Given the description of an element on the screen output the (x, y) to click on. 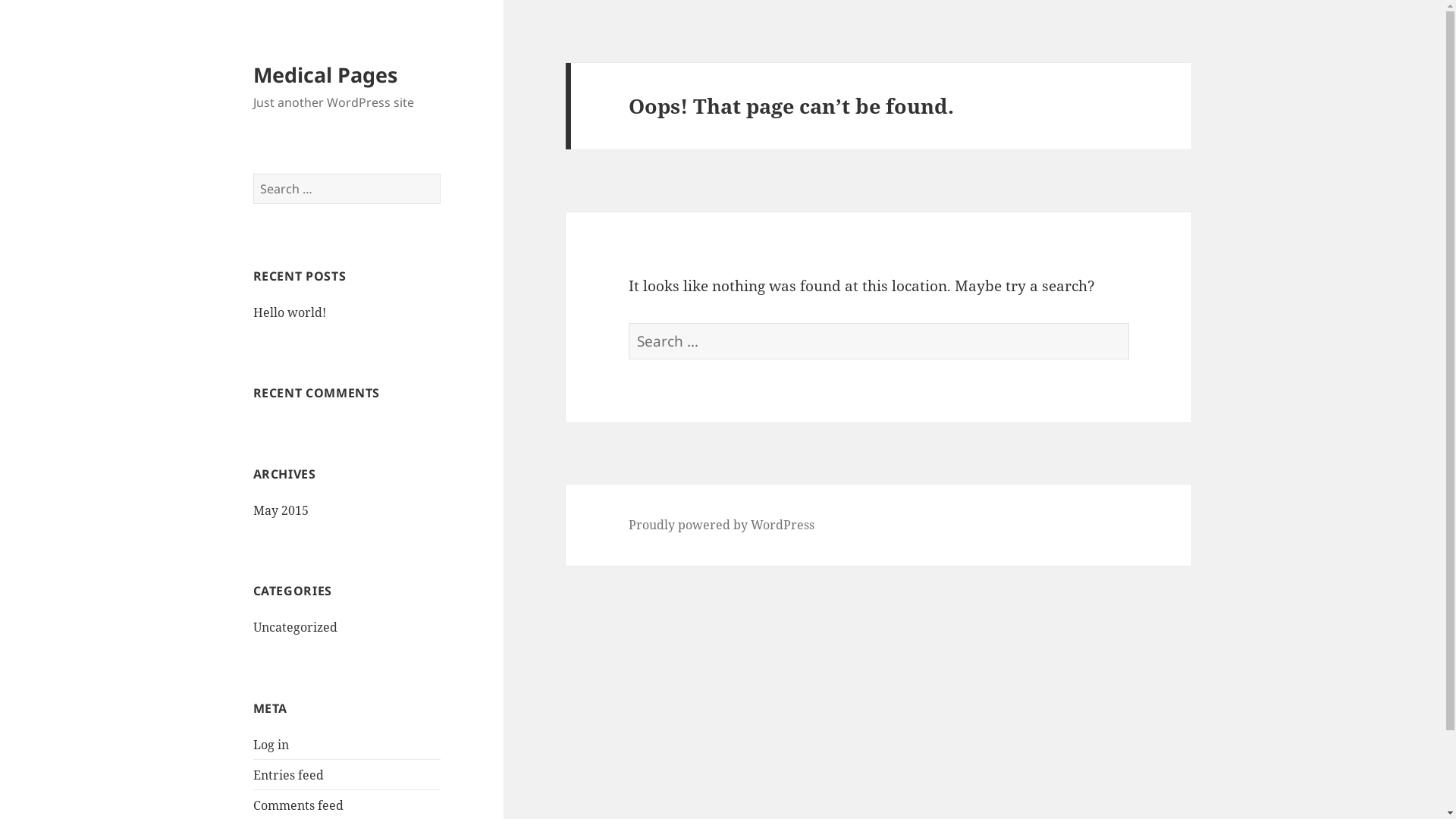
Medical Pages Element type: text (325, 74)
Entries feed Element type: text (288, 774)
Search Element type: text (1128, 322)
Uncategorized Element type: text (295, 626)
Search Element type: text (439, 172)
Log in Element type: text (270, 744)
Comments feed Element type: text (298, 805)
Proudly powered by WordPress Element type: text (721, 524)
Hello world! Element type: text (289, 312)
May 2015 Element type: text (280, 510)
